Given the description of an element on the screen output the (x, y) to click on. 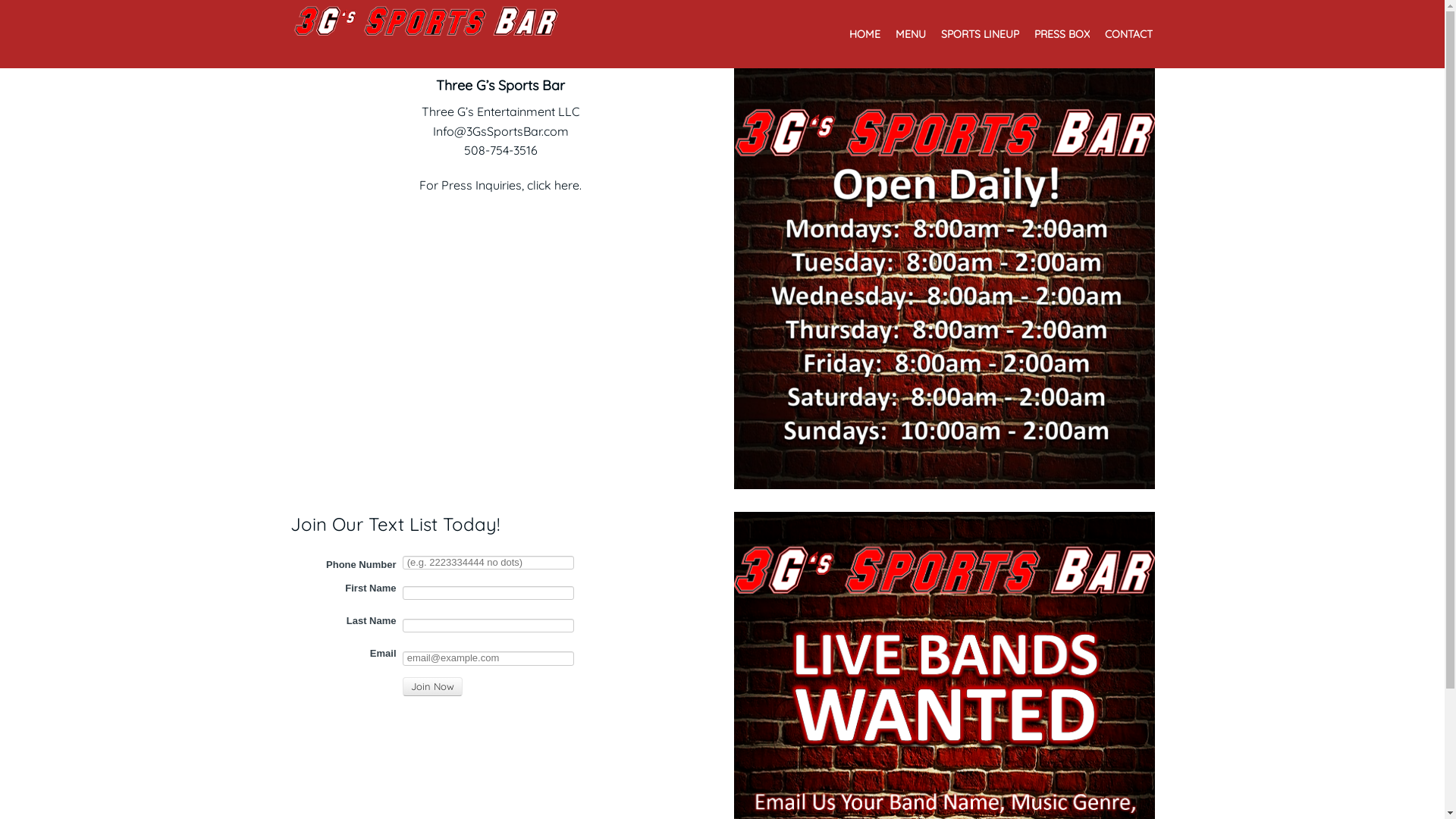
HOME Element type: text (864, 37)
CONTACT Element type: text (1127, 37)
Join Now Element type: text (431, 686)
PRESS BOX Element type: text (1061, 37)
SPORTS LINEUP Element type: text (979, 37)
click here Element type: text (553, 184)
MENU Element type: text (909, 37)
